Given the description of an element on the screen output the (x, y) to click on. 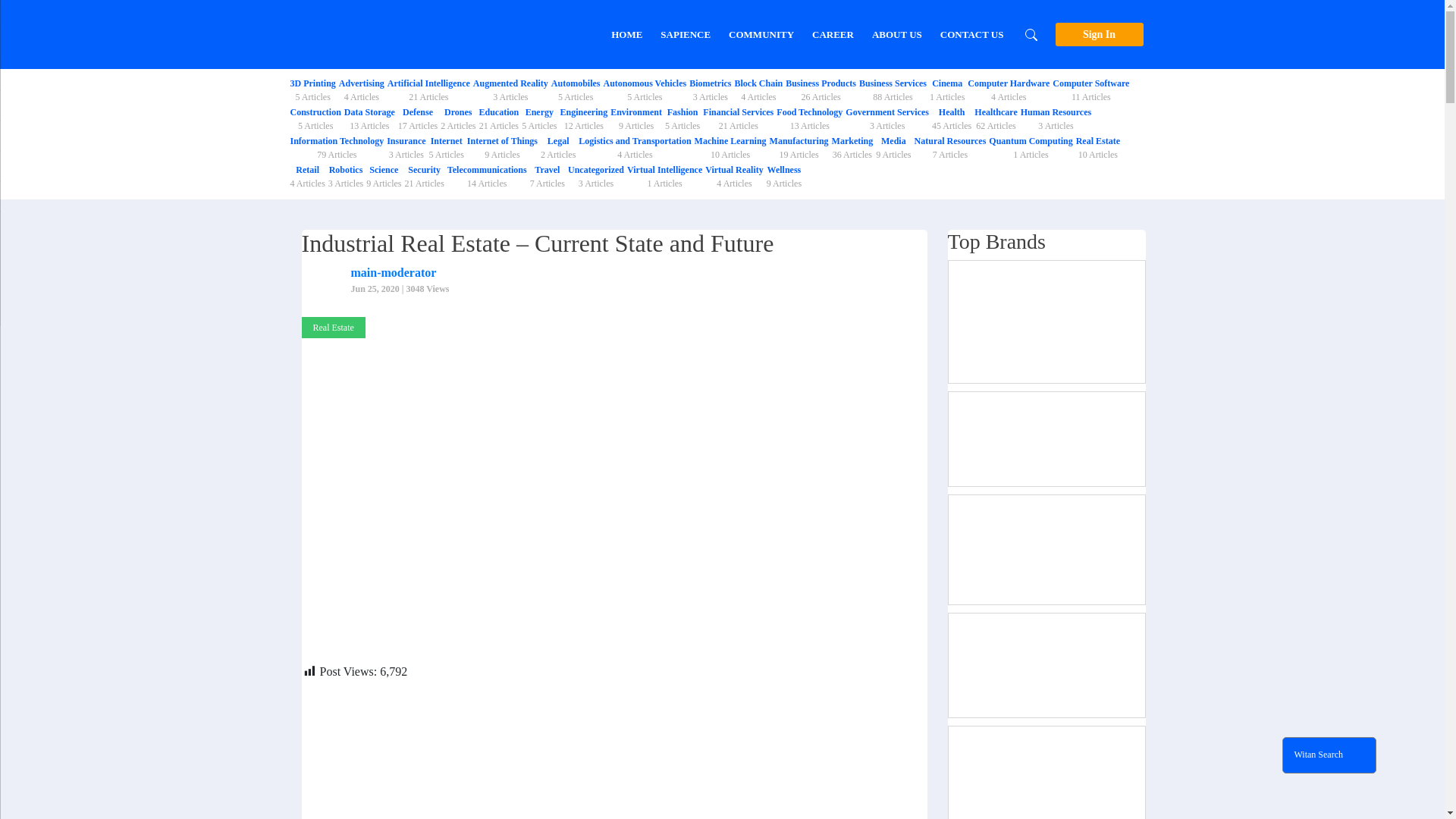
Google (458, 119)
StumbleUpon (583, 119)
SAPIENCE (538, 119)
Print this page (433, 696)
